Given the description of an element on the screen output the (x, y) to click on. 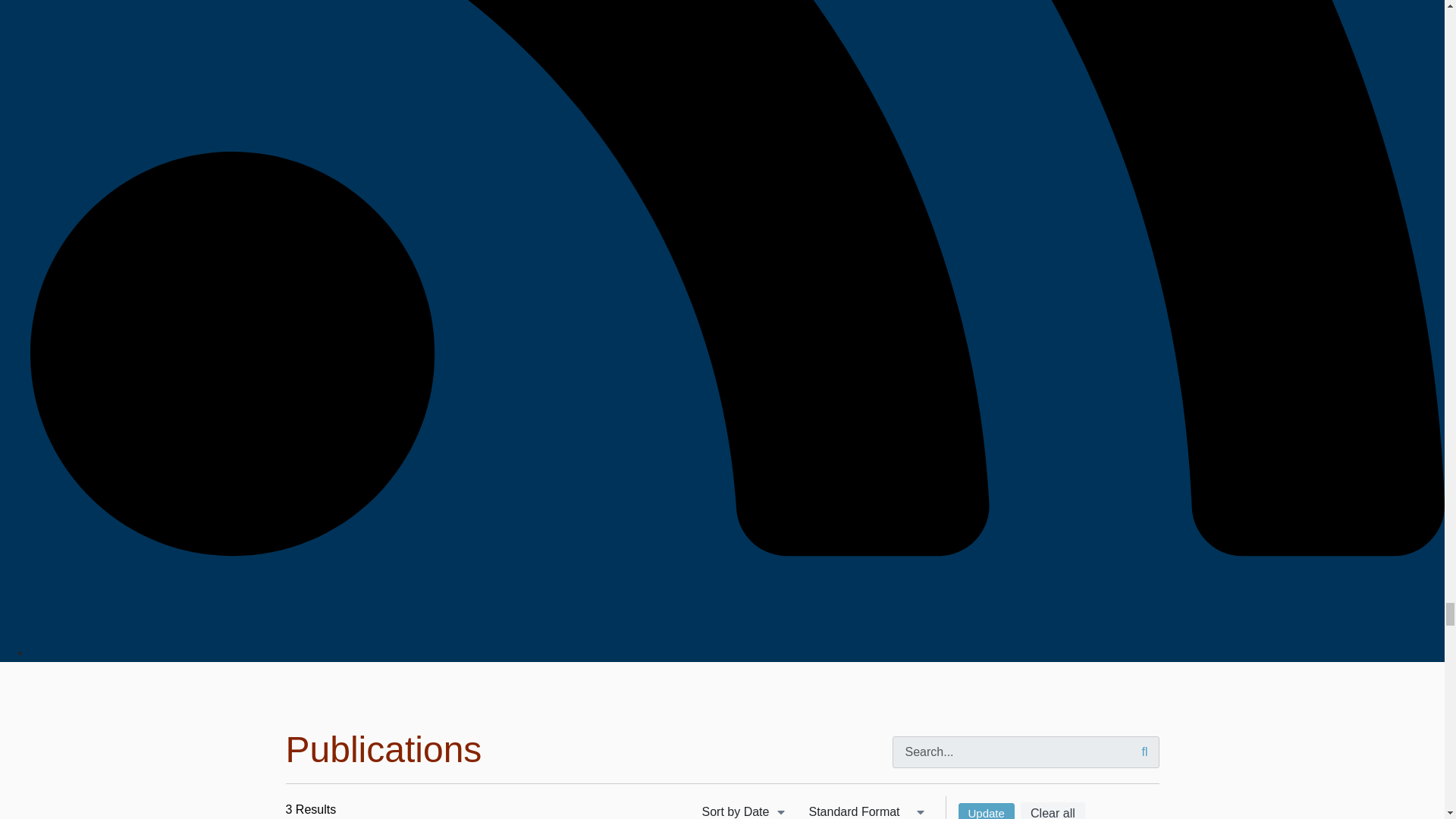
Search Input (1024, 752)
